Given the description of an element on the screen output the (x, y) to click on. 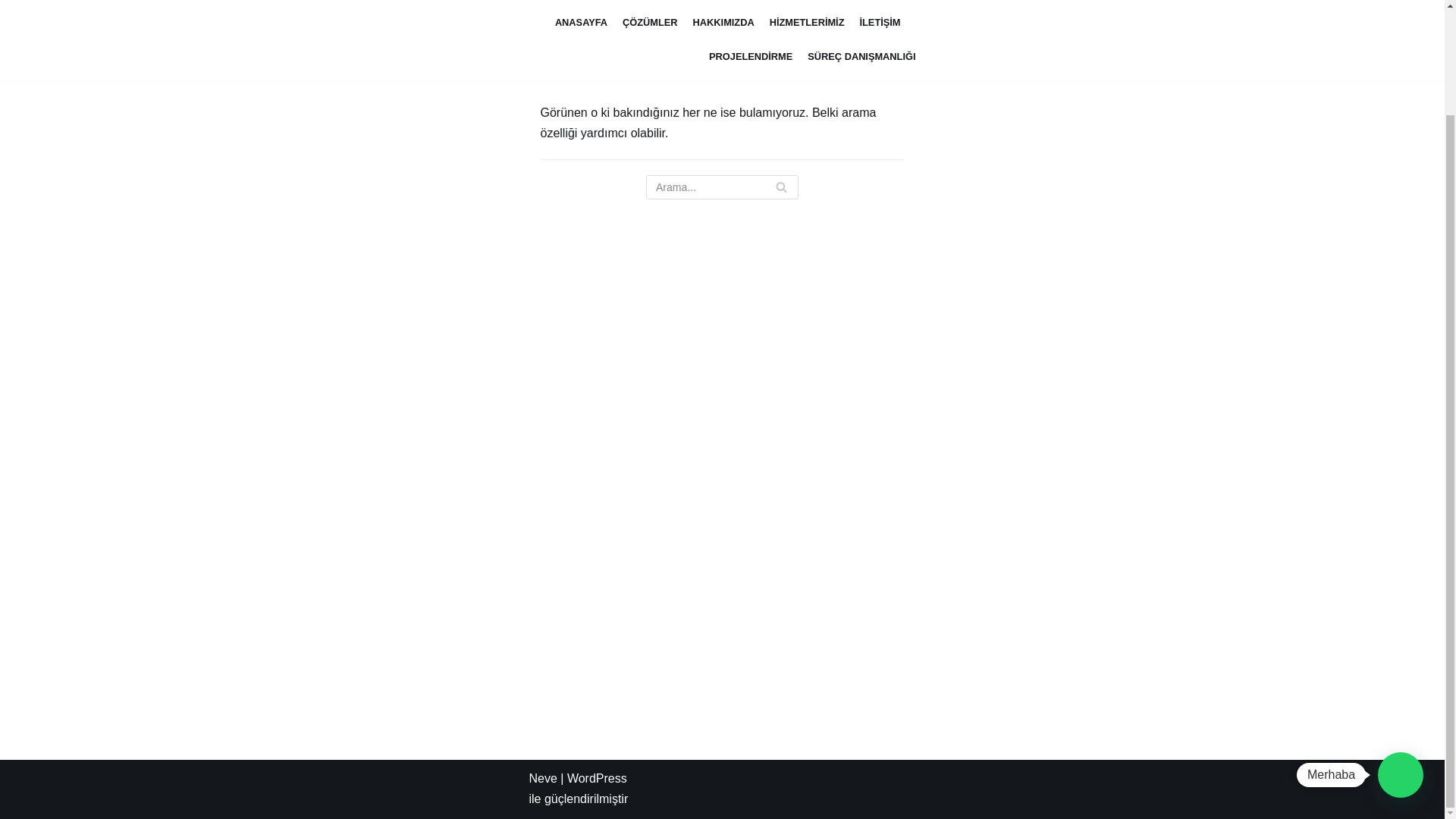
Neve (543, 778)
PROJELENDIRME (750, 56)
ANASAYFA (580, 22)
HAKKIMIZDA (723, 22)
HIZMETLERIMIZ (807, 22)
WordPress (597, 778)
